Given the description of an element on the screen output the (x, y) to click on. 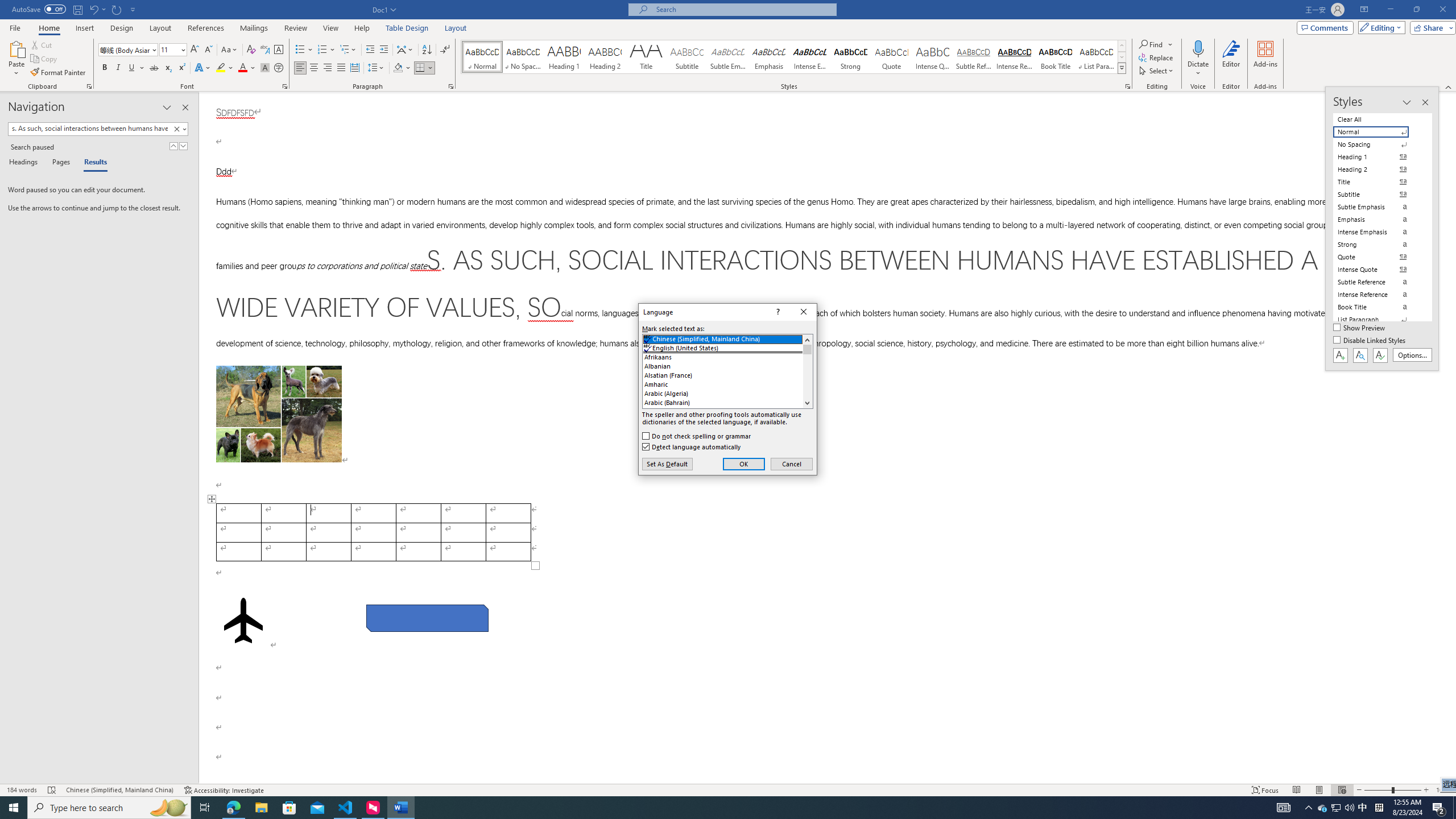
Page down (807, 376)
Intense Reference (1014, 56)
Clear All (1377, 119)
